Given the description of an element on the screen output the (x, y) to click on. 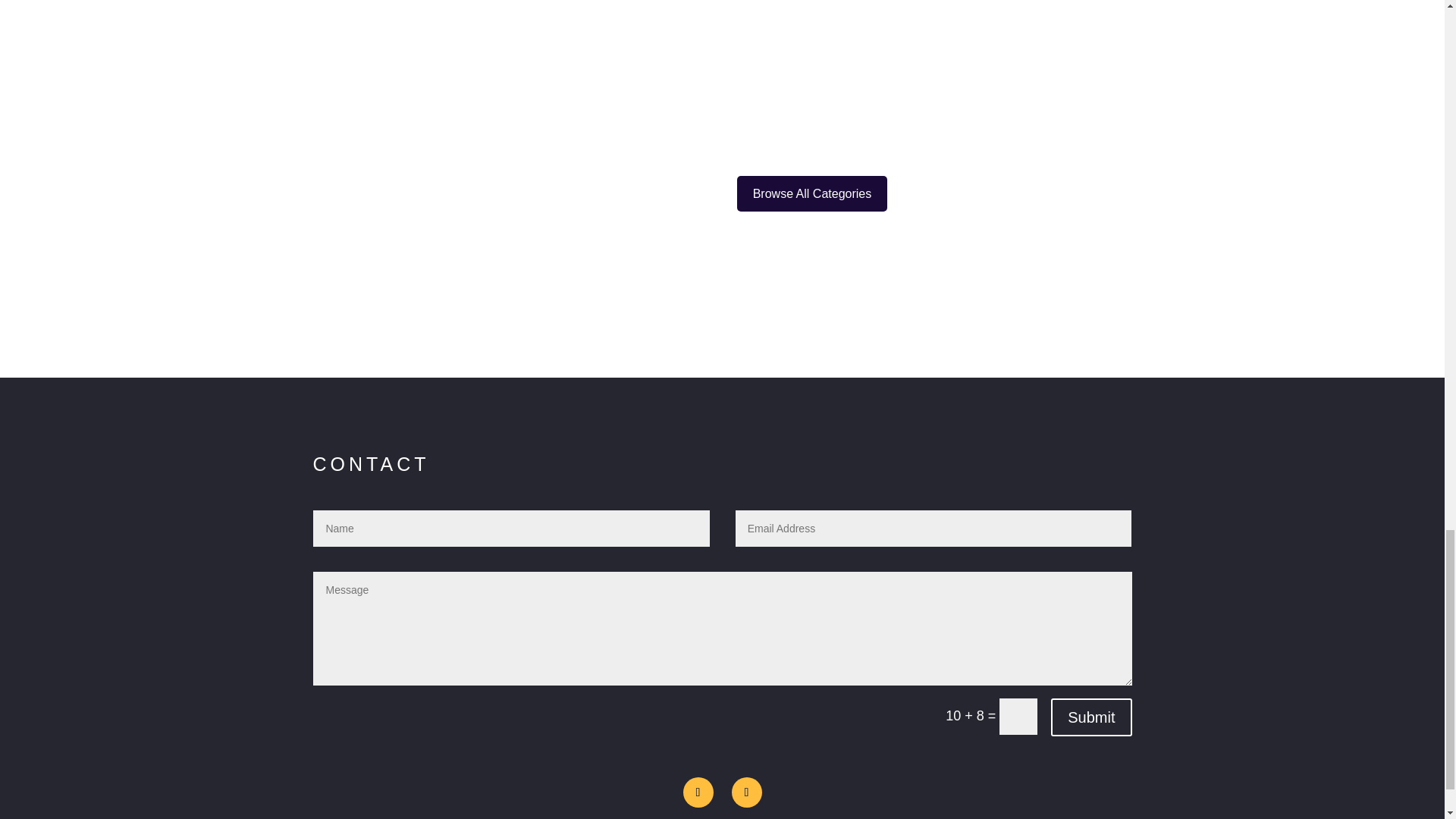
Follow on Facebook (697, 792)
Browse All Categories (812, 193)
Comment Form (721, 18)
Submit (1091, 717)
Follow on Twitter (745, 792)
